Given the description of an element on the screen output the (x, y) to click on. 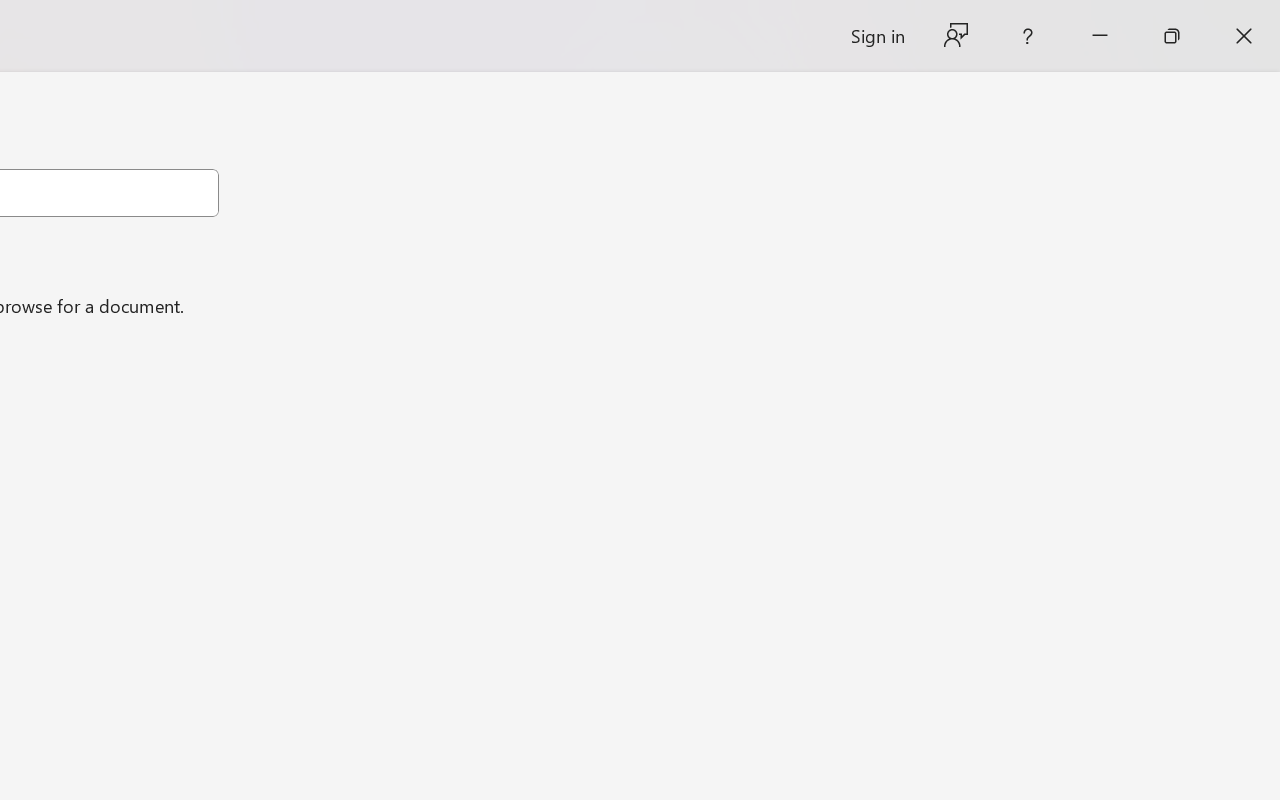
Sign in (875, 35)
